Given the description of an element on the screen output the (x, y) to click on. 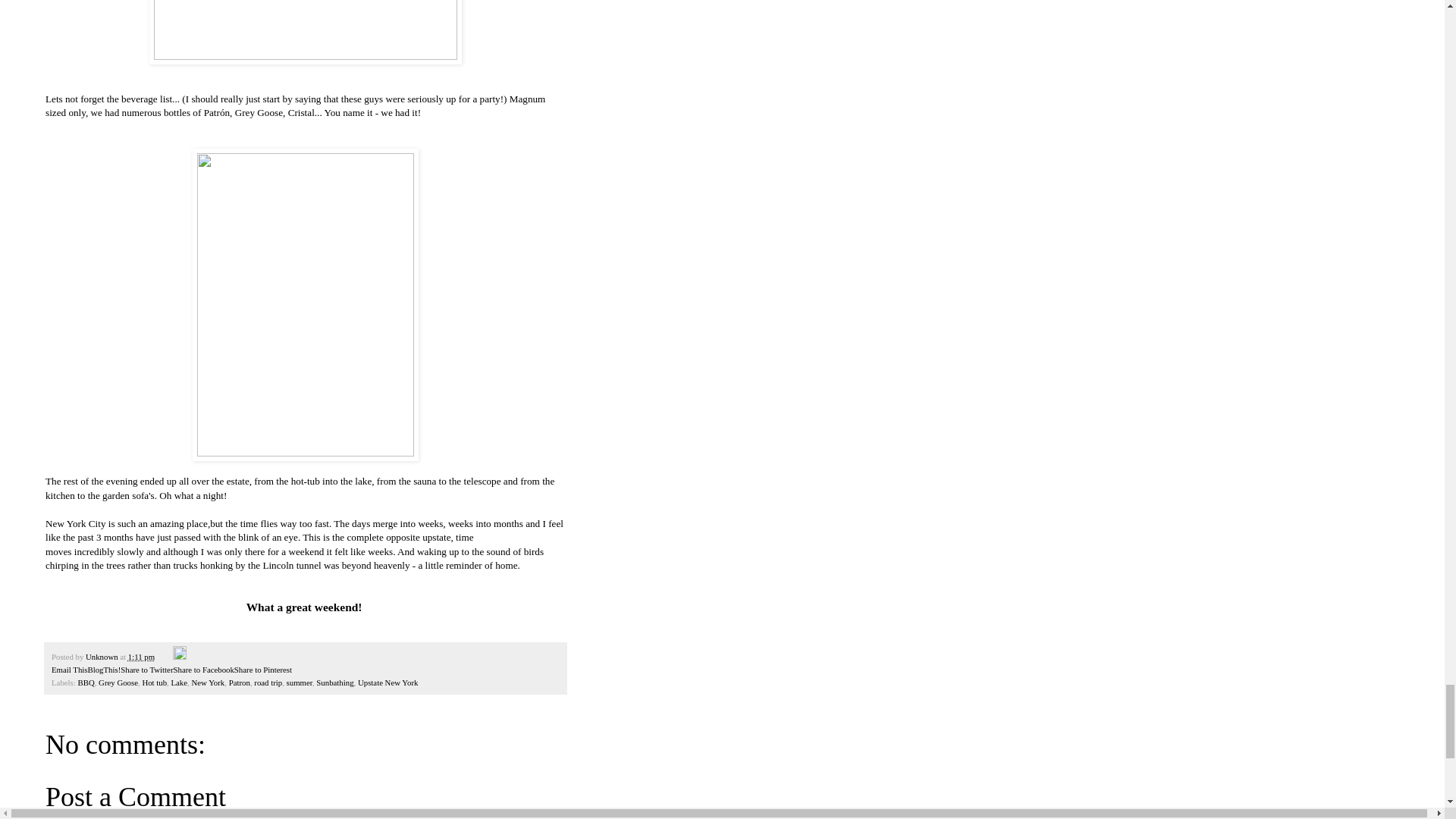
1:11 pm (141, 655)
BBQ (85, 682)
Grey Goose (118, 682)
author profile (102, 655)
permanent link (141, 655)
BlogThis! (103, 669)
Email Post (165, 655)
Hot tub (154, 682)
Share to Pinterest (263, 669)
Share to Twitter (146, 669)
